Given the description of an element on the screen output the (x, y) to click on. 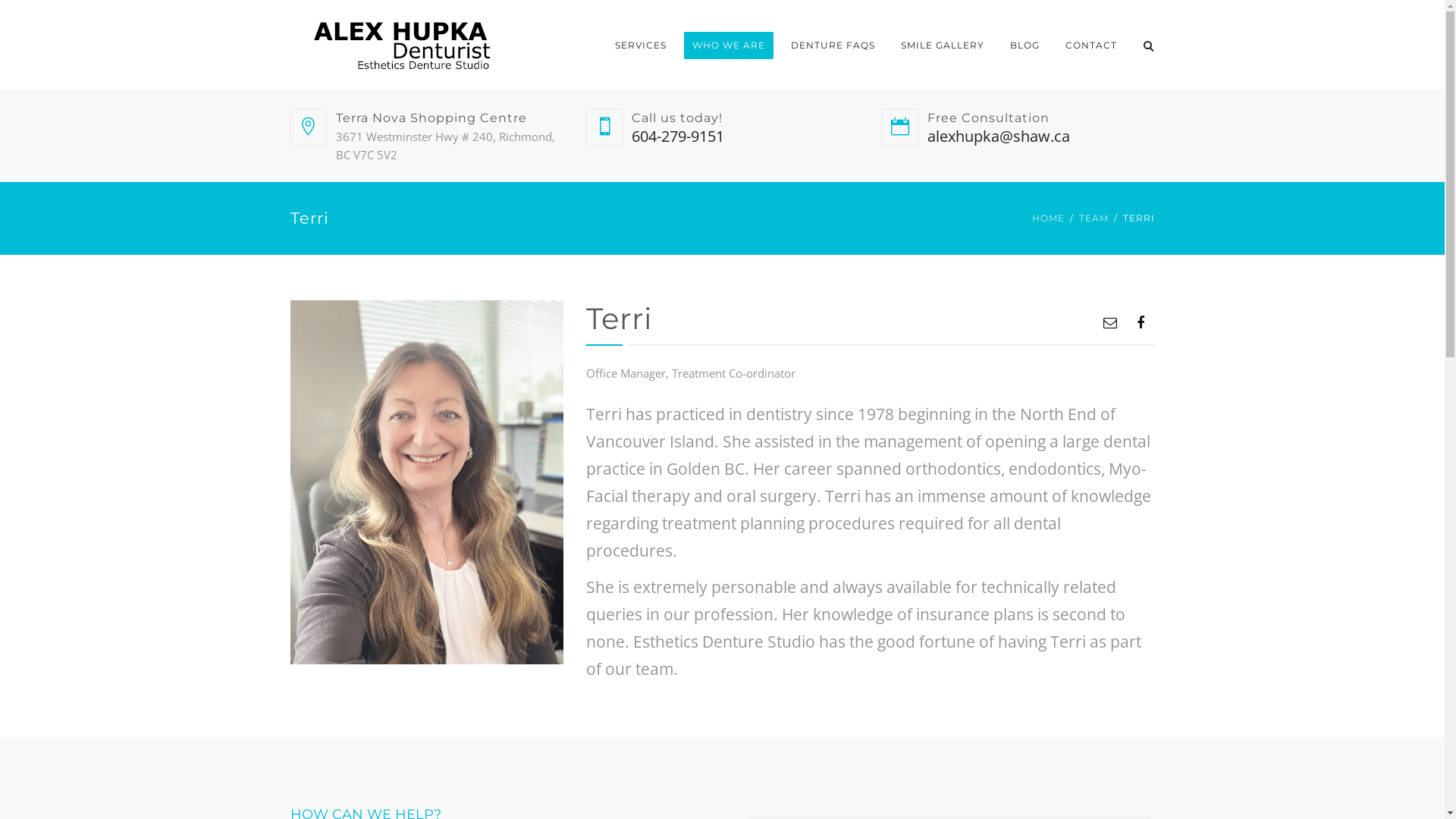
WHO WE ARE Element type: text (728, 45)
CONTACT Element type: text (1091, 45)
604-279-9151 Element type: text (676, 135)
BLOG Element type: text (1024, 45)
TEAM Element type: text (1092, 218)
SERVICES Element type: text (640, 45)
DENTURE FAQS Element type: text (832, 45)
alexhupka@shaw.ca Element type: text (997, 135)
SMILE GALLERY Element type: text (941, 45)
HOME Element type: text (1047, 218)
